Given the description of an element on the screen output the (x, y) to click on. 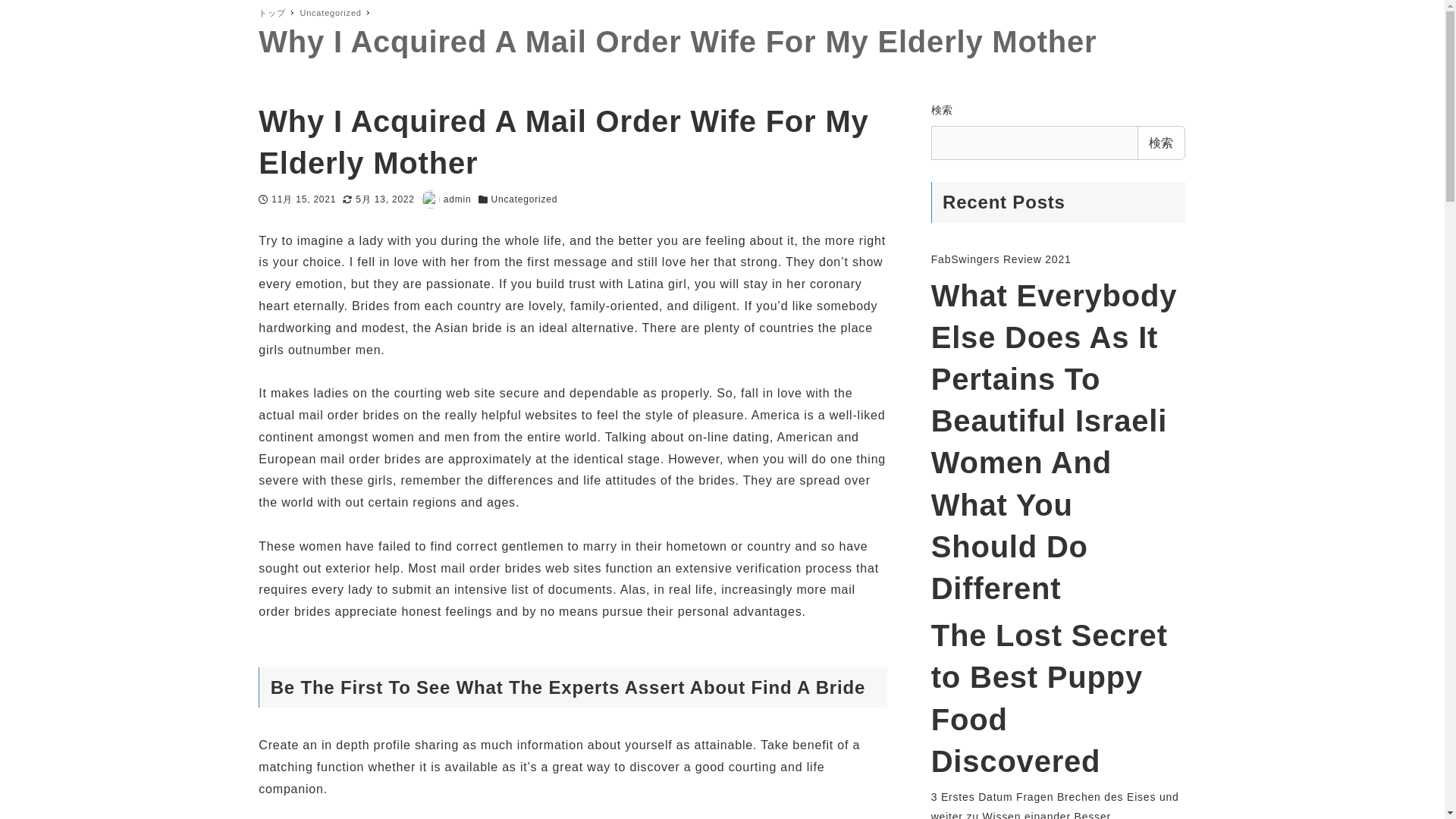
The Lost Secret to Best Puppy Food Discovered (1058, 698)
FabSwingers Review 2021 (1001, 259)
Uncategorized (524, 199)
Why I Acquired A Mail Order Wife For My Elderly Mother (722, 48)
Uncategorized (331, 12)
